Given the description of an element on the screen output the (x, y) to click on. 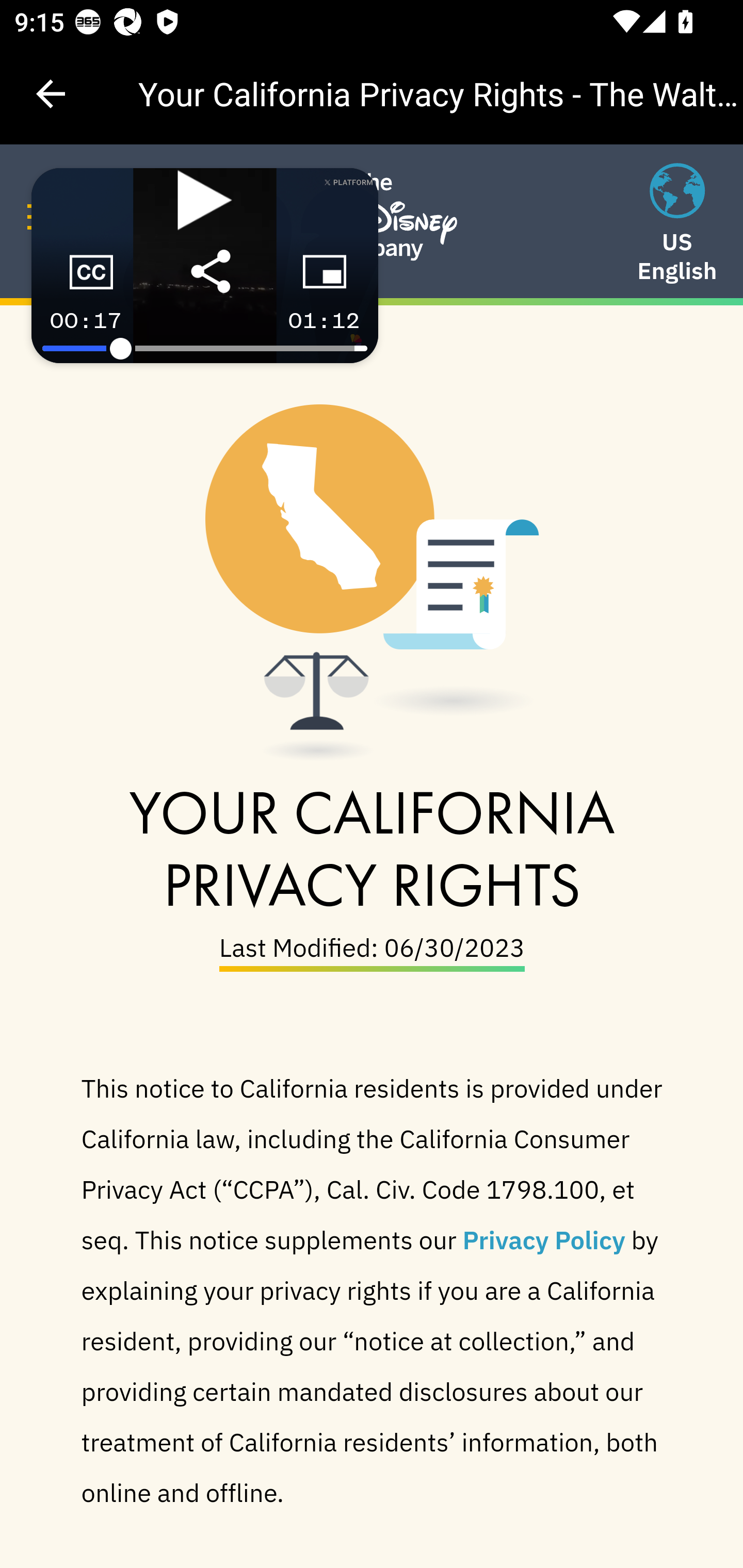
Navigate up (50, 93)
US English US English (677, 224)
Privacy Policy (544, 1237)
